Given the description of an element on the screen output the (x, y) to click on. 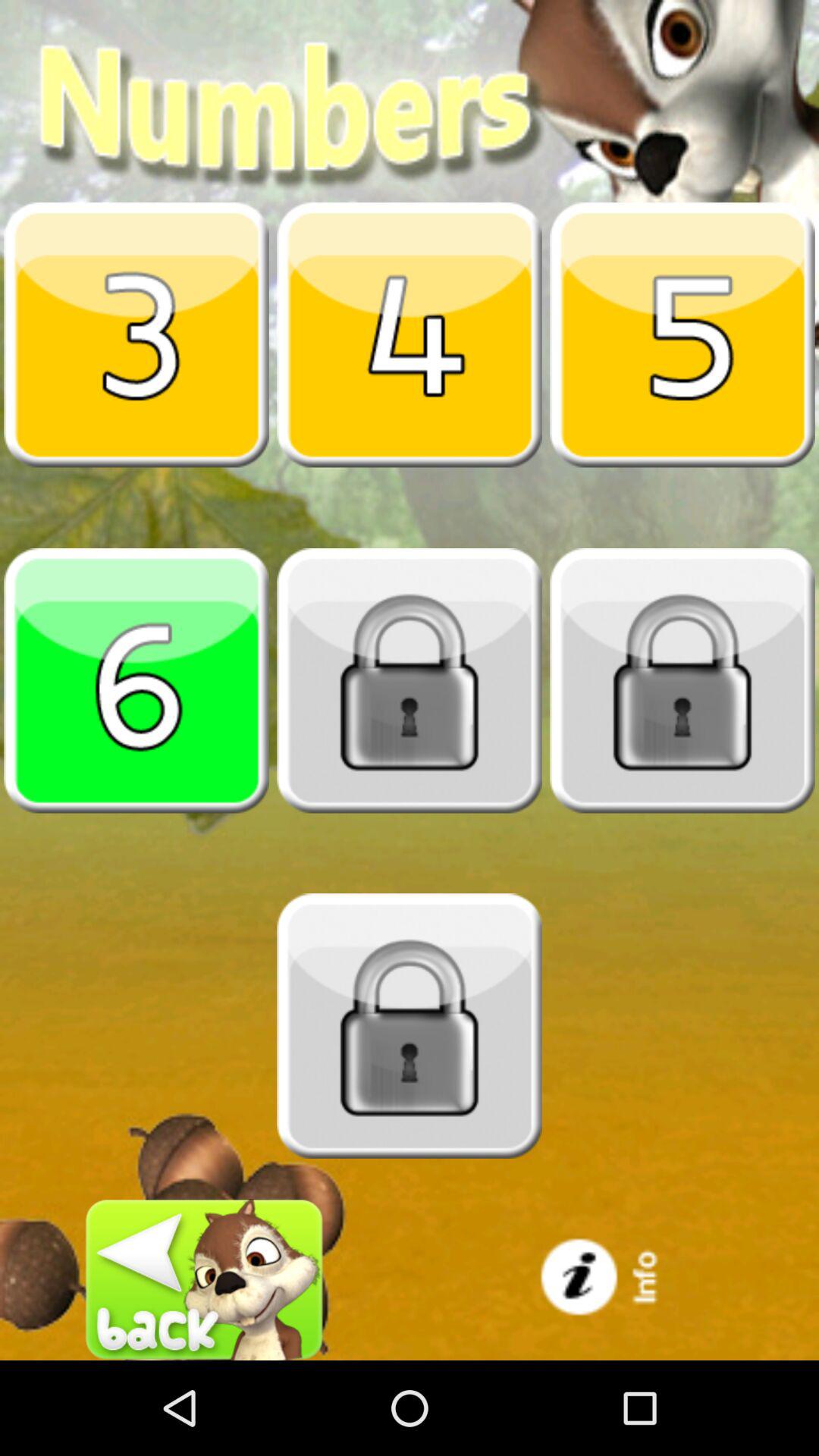
check the locked item (682, 680)
